Given the description of an element on the screen output the (x, y) to click on. 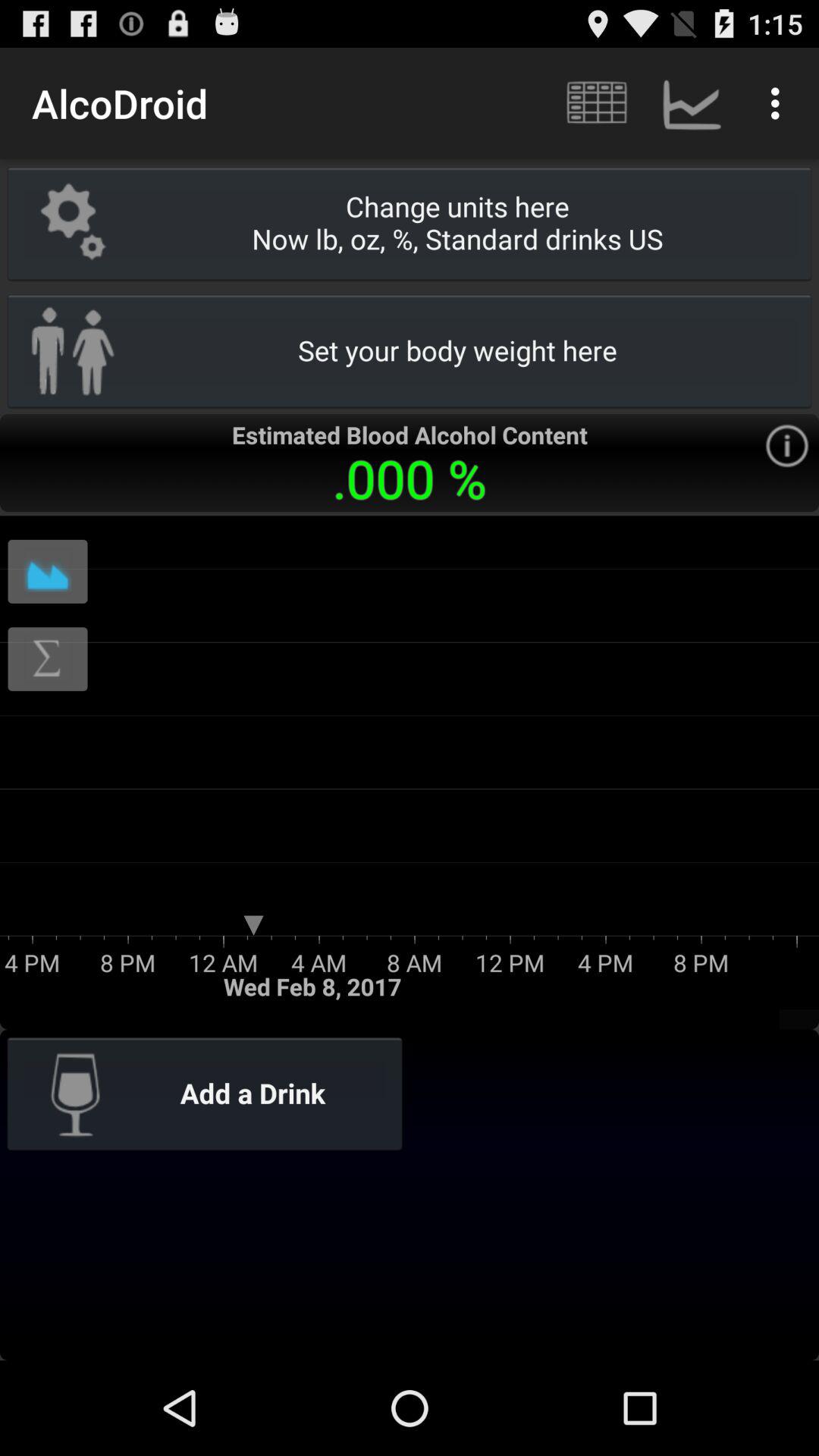
show information (787, 445)
